Given the description of an element on the screen output the (x, y) to click on. 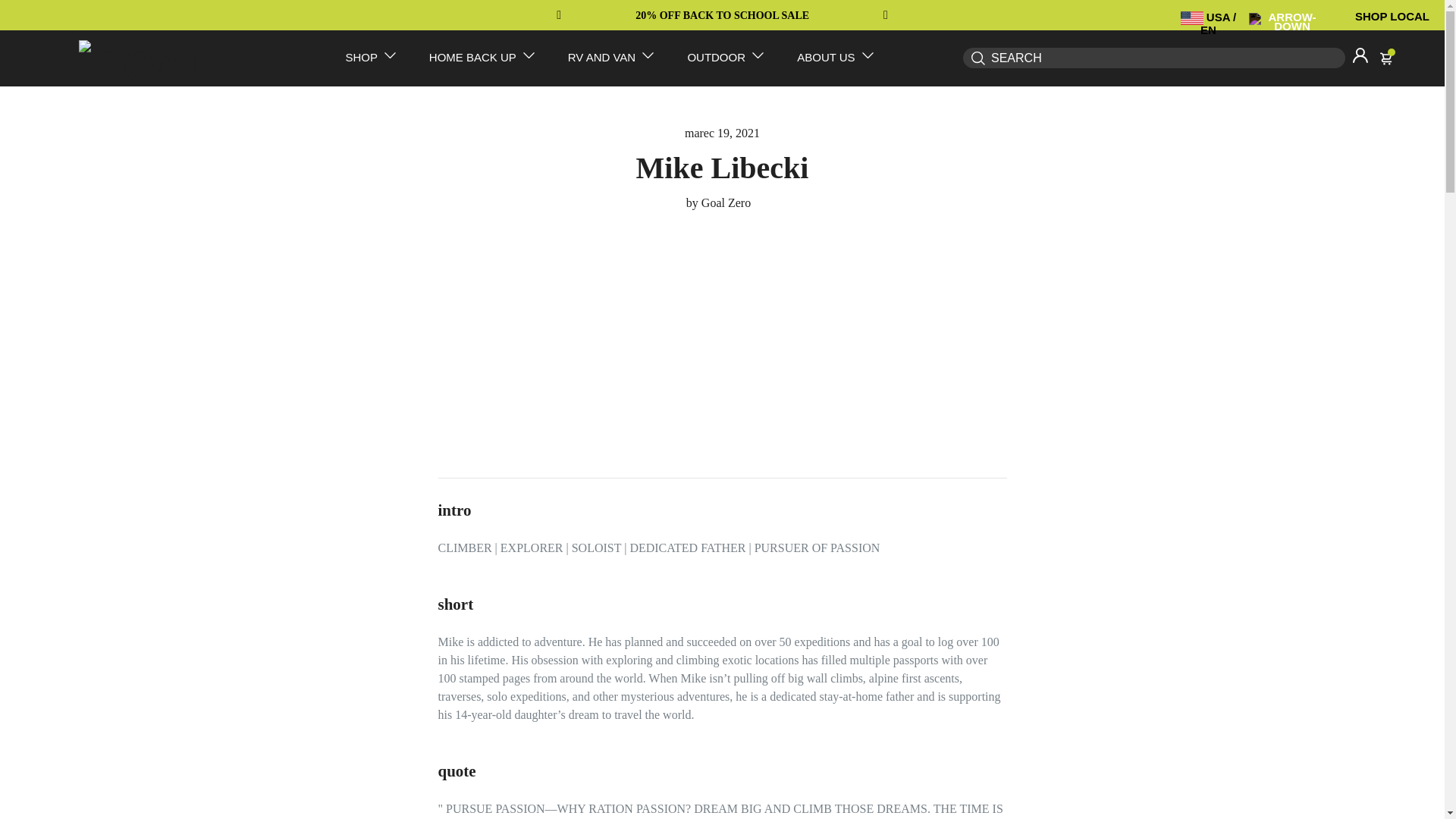
Next (880, 15)
SHOP LOCAL (1392, 15)
Previous (564, 15)
